Given the description of an element on the screen output the (x, y) to click on. 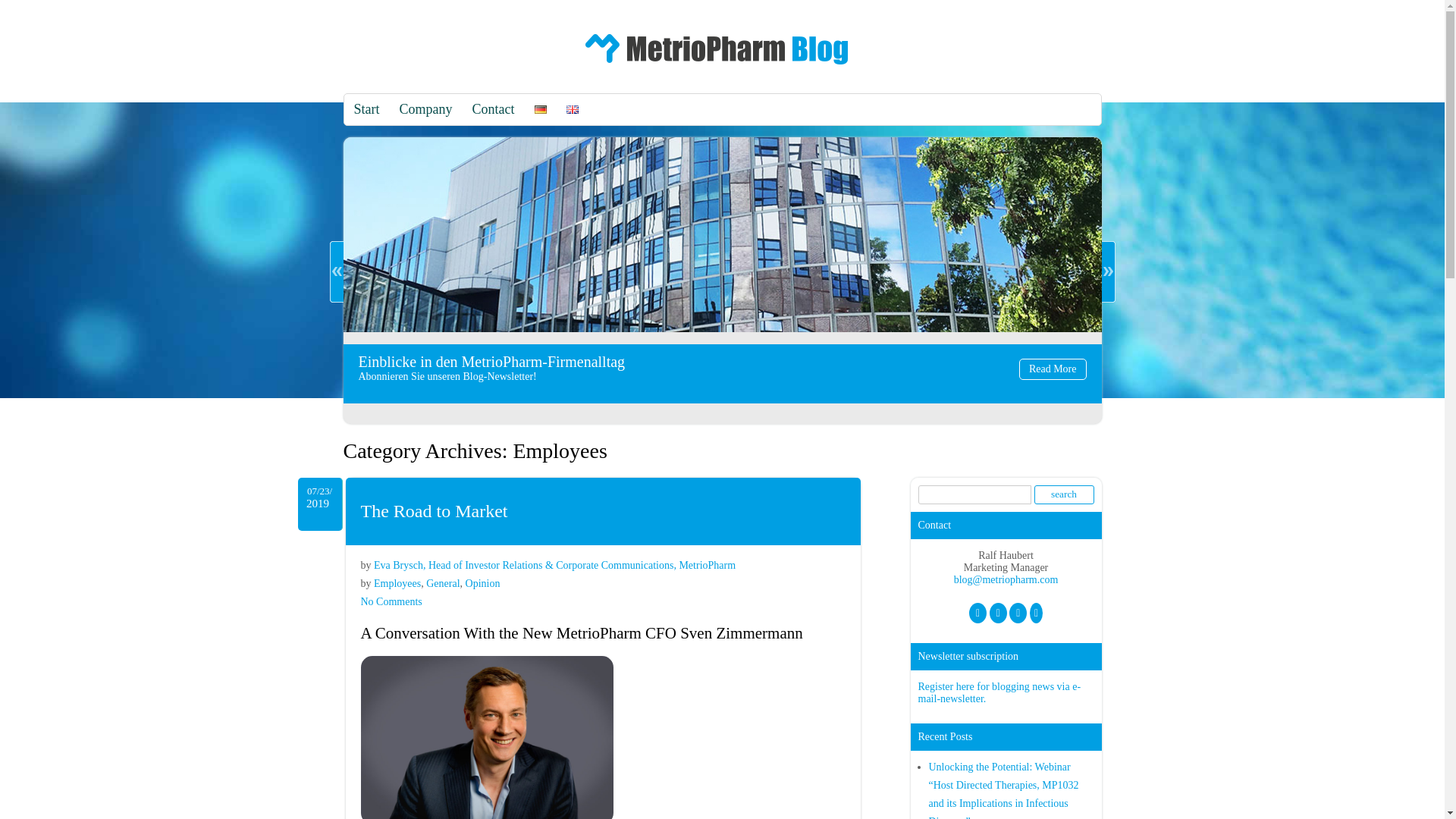
Register here for blogging news via e-mail-newsletter. (998, 692)
Start (366, 109)
Employees (397, 583)
MetrioPharm-Blog (716, 67)
search (391, 601)
Opinion (1063, 494)
Read More (482, 583)
Company (1052, 369)
Contact (426, 109)
